Given the description of an element on the screen output the (x, y) to click on. 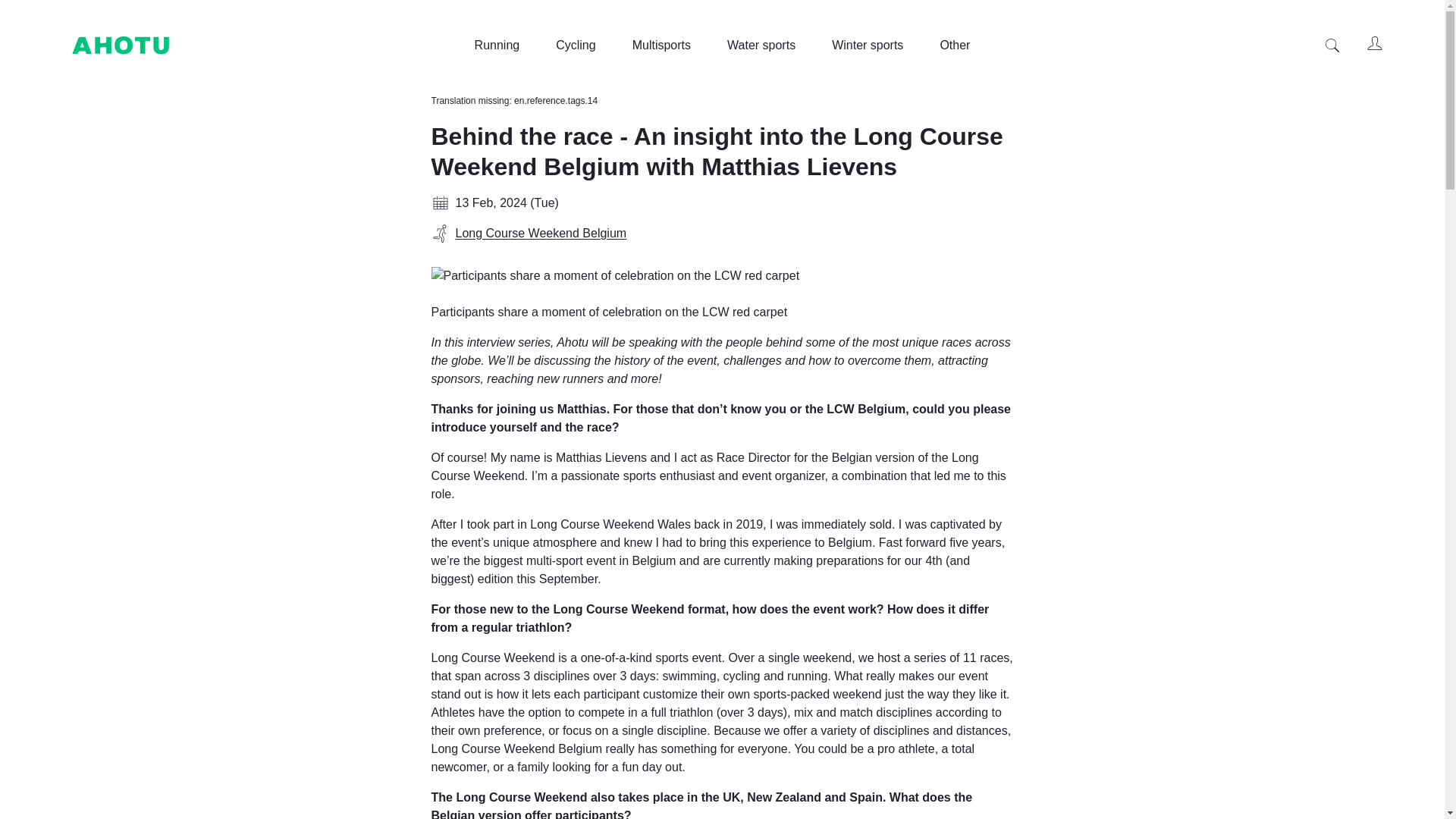
Water sports (760, 45)
Long Course Weekend Belgium (721, 233)
Running (496, 45)
Other (954, 45)
Winter sports (866, 45)
Cycling (575, 45)
Multisports (660, 45)
